Given the description of an element on the screen output the (x, y) to click on. 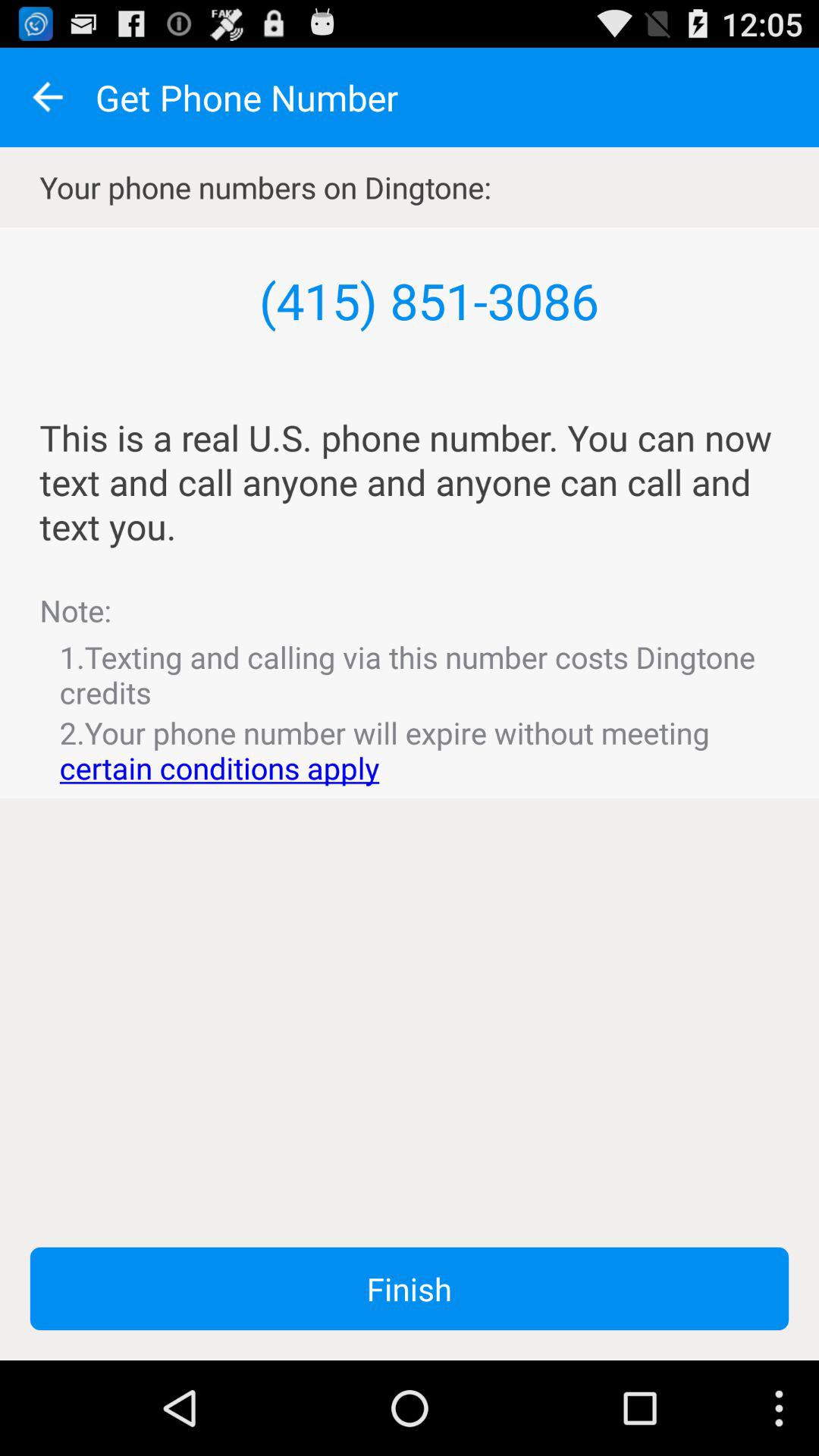
select icon above finish button (409, 750)
